Given the description of an element on the screen output the (x, y) to click on. 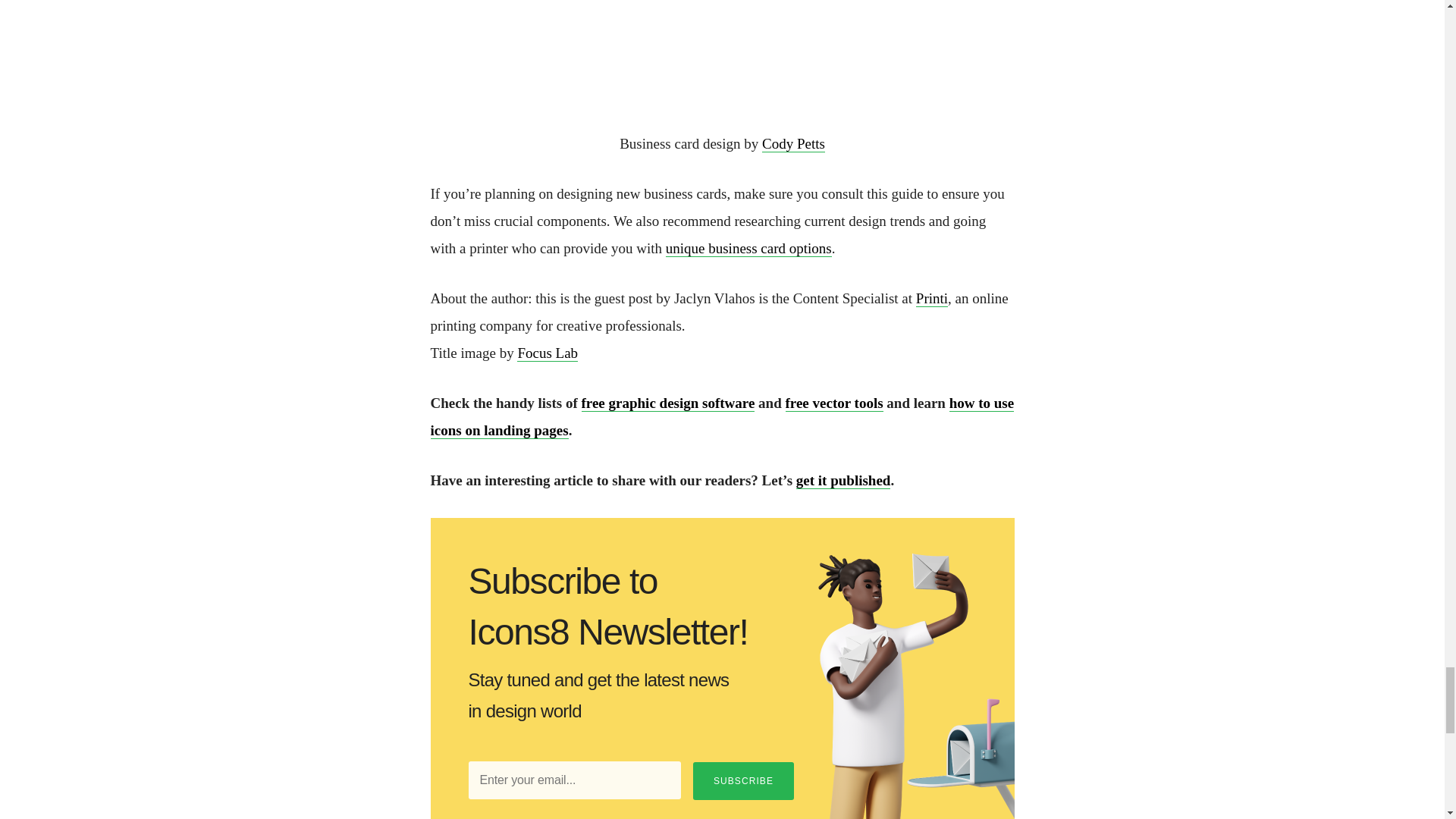
Subscribe (743, 781)
